Given the description of an element on the screen output the (x, y) to click on. 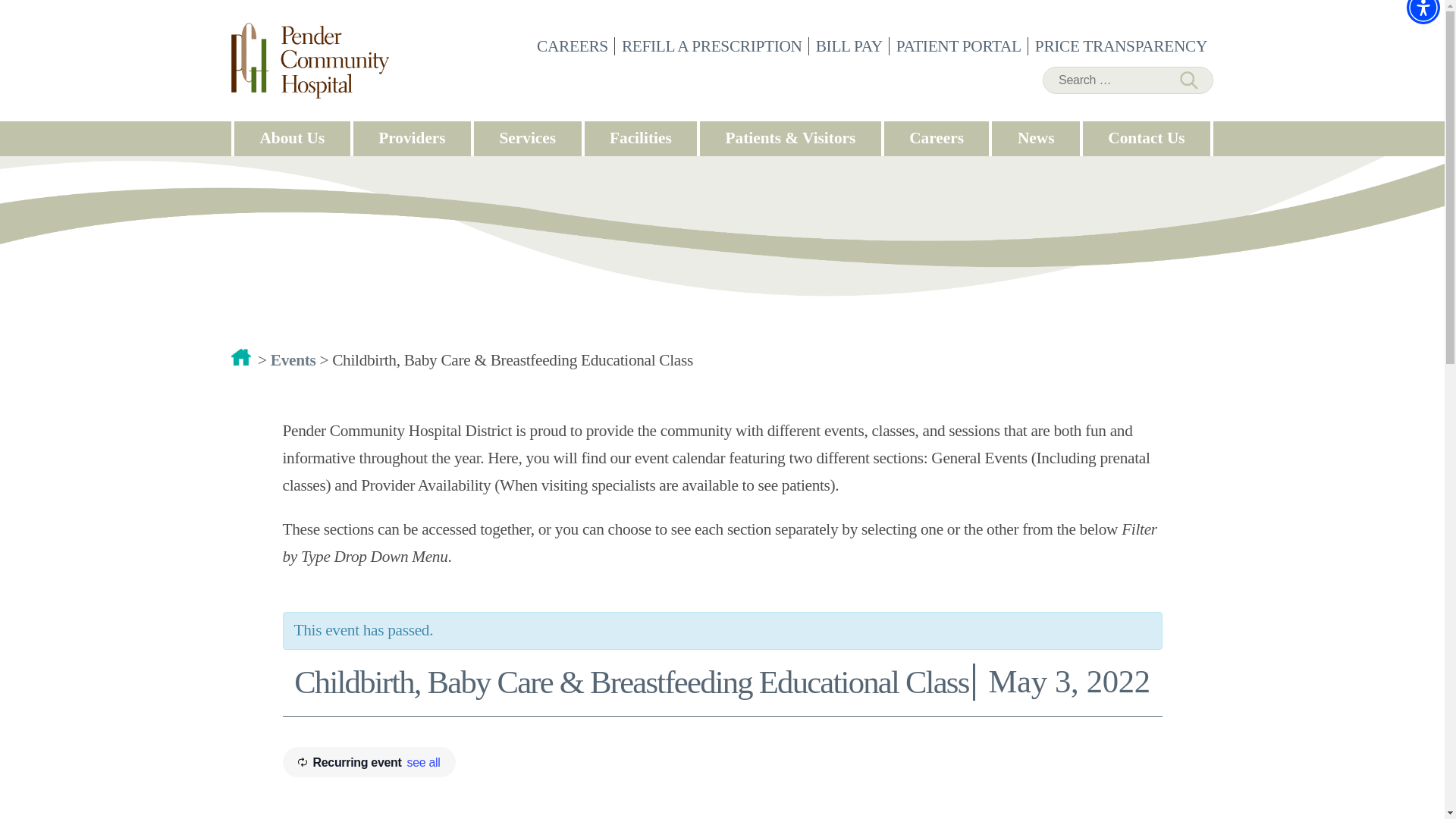
Search (1184, 80)
BILL PAY (850, 45)
PRICE TRANSPARENCY (1122, 45)
Services (527, 138)
Search (1184, 80)
PATIENT PORTAL (960, 45)
Providers (411, 138)
REFILL A PRESCRIPTION (713, 45)
Accessibility Menu (1422, 12)
About Us (292, 138)
Search (1184, 80)
CAREERS (574, 45)
